Given the description of an element on the screen output the (x, y) to click on. 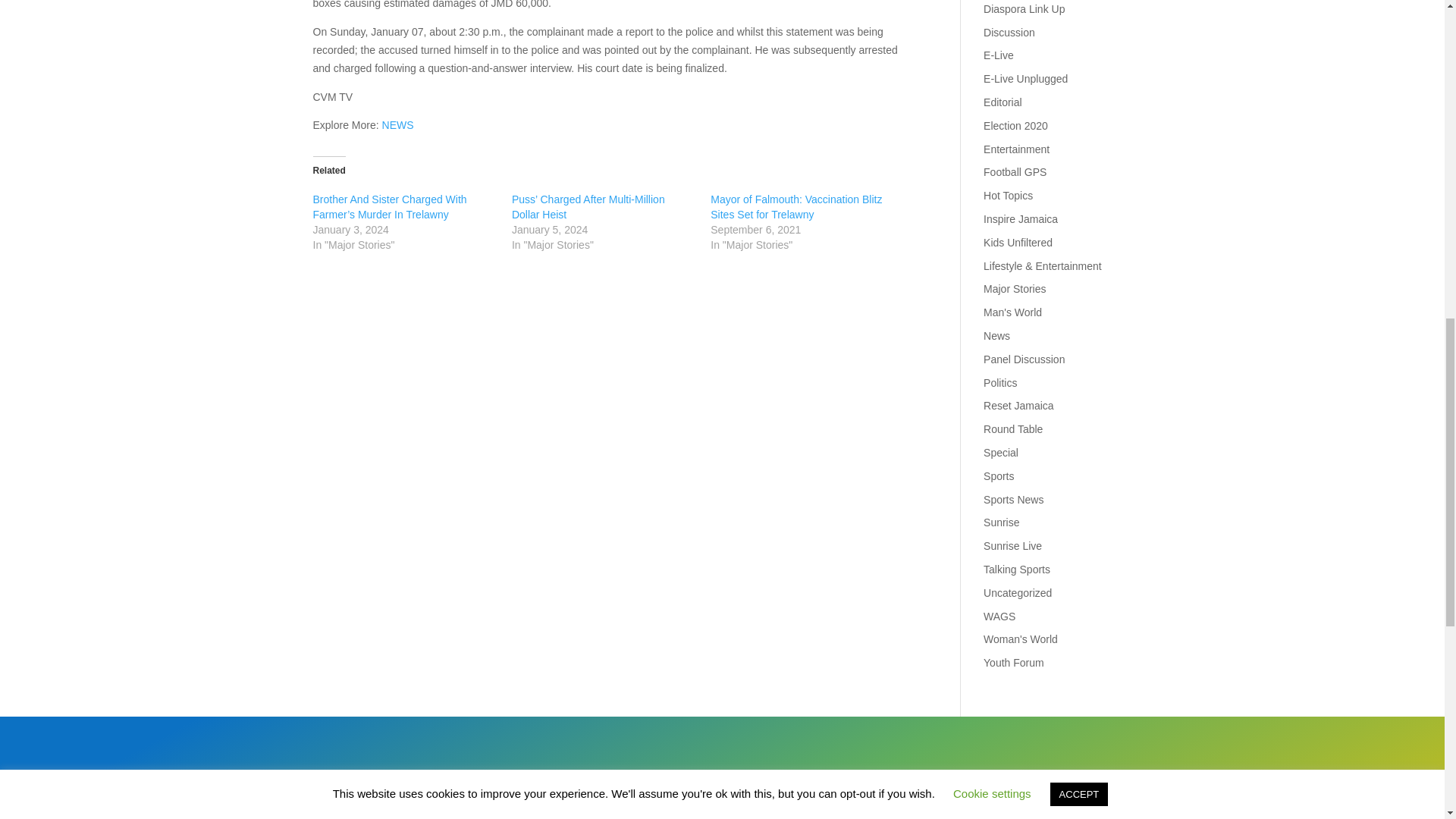
Election 2020 (1016, 125)
Football GPS (1015, 172)
E-Live (998, 55)
Inspire Jamaica (1021, 218)
E-Live Unplugged (1025, 78)
Diaspora Link Up (1024, 9)
Entertainment (1016, 149)
Discussion (1009, 32)
Kids Unfiltered (1018, 242)
NEWS (397, 124)
